Given the description of an element on the screen output the (x, y) to click on. 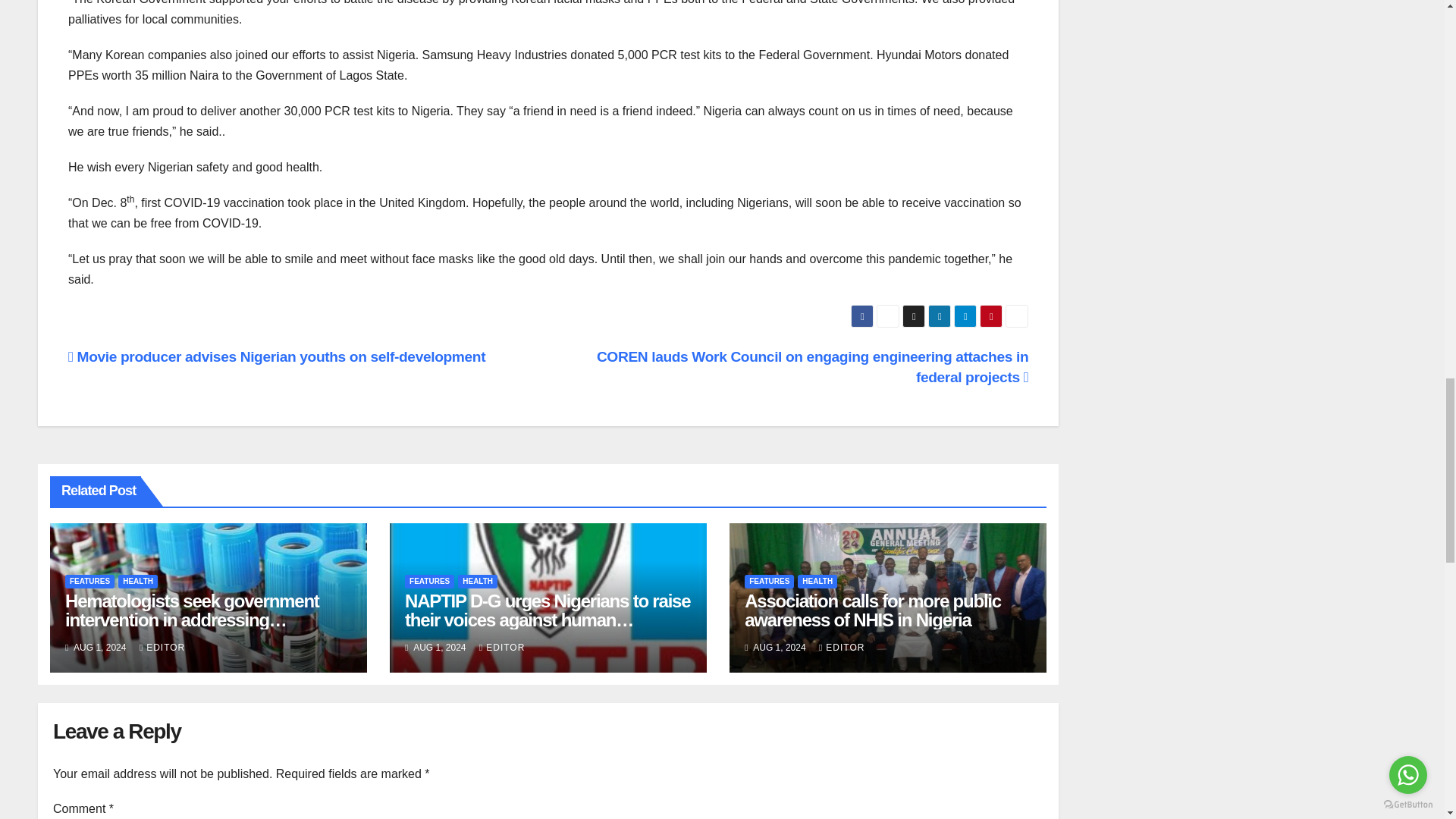
EDITOR (502, 647)
HEALTH (137, 581)
EDITOR (841, 647)
FEATURES (768, 581)
FEATURES (90, 581)
FEATURES (429, 581)
Movie producer advises Nigerian youths on self-development (276, 356)
